Given the description of an element on the screen output the (x, y) to click on. 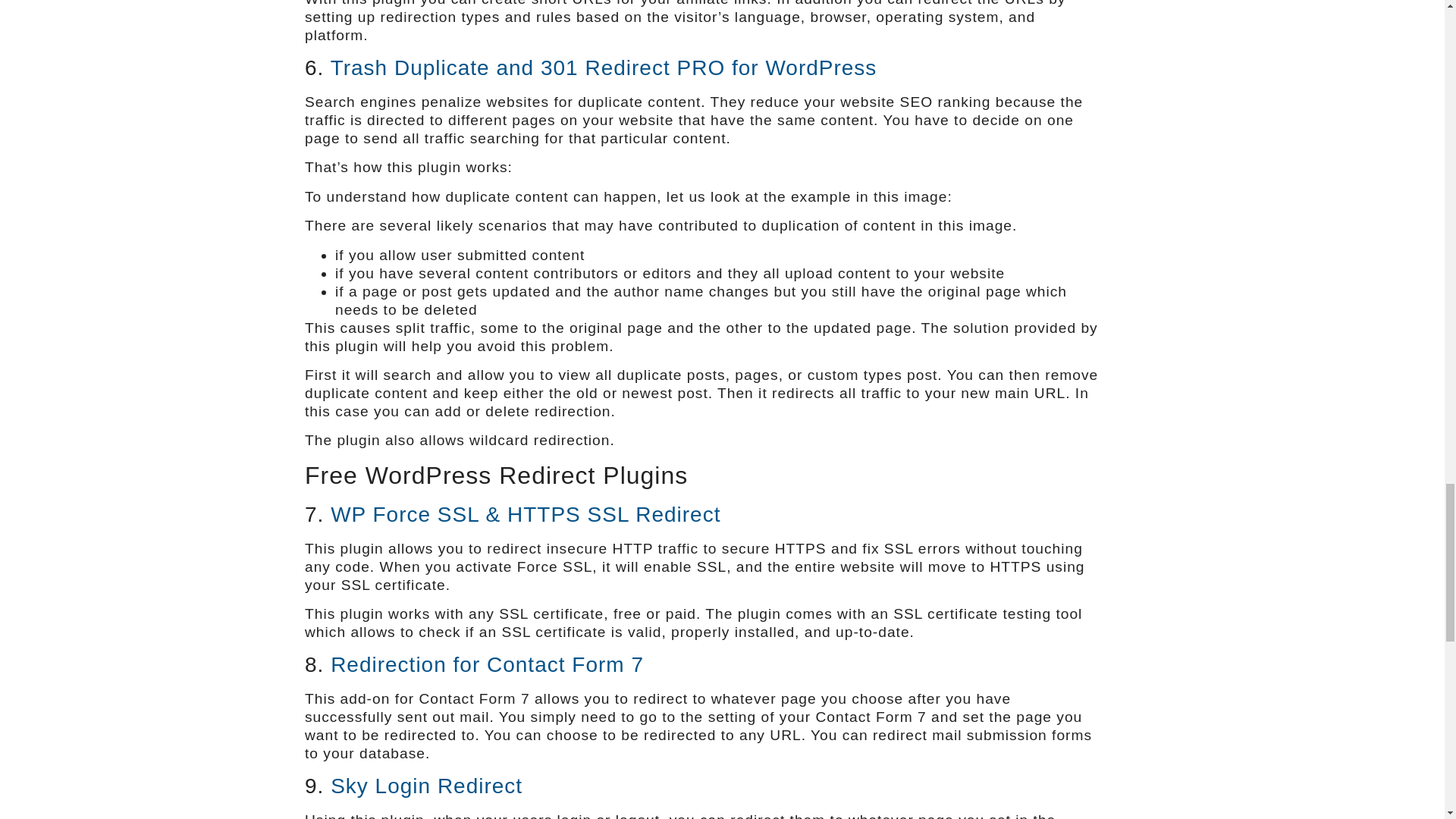
Trash Duplicate and 301 Redirect PRO for WordPress (603, 67)
Sky Login Redirect (426, 785)
Redirection for Contact Form 7 (486, 664)
